Given the description of an element on the screen output the (x, y) to click on. 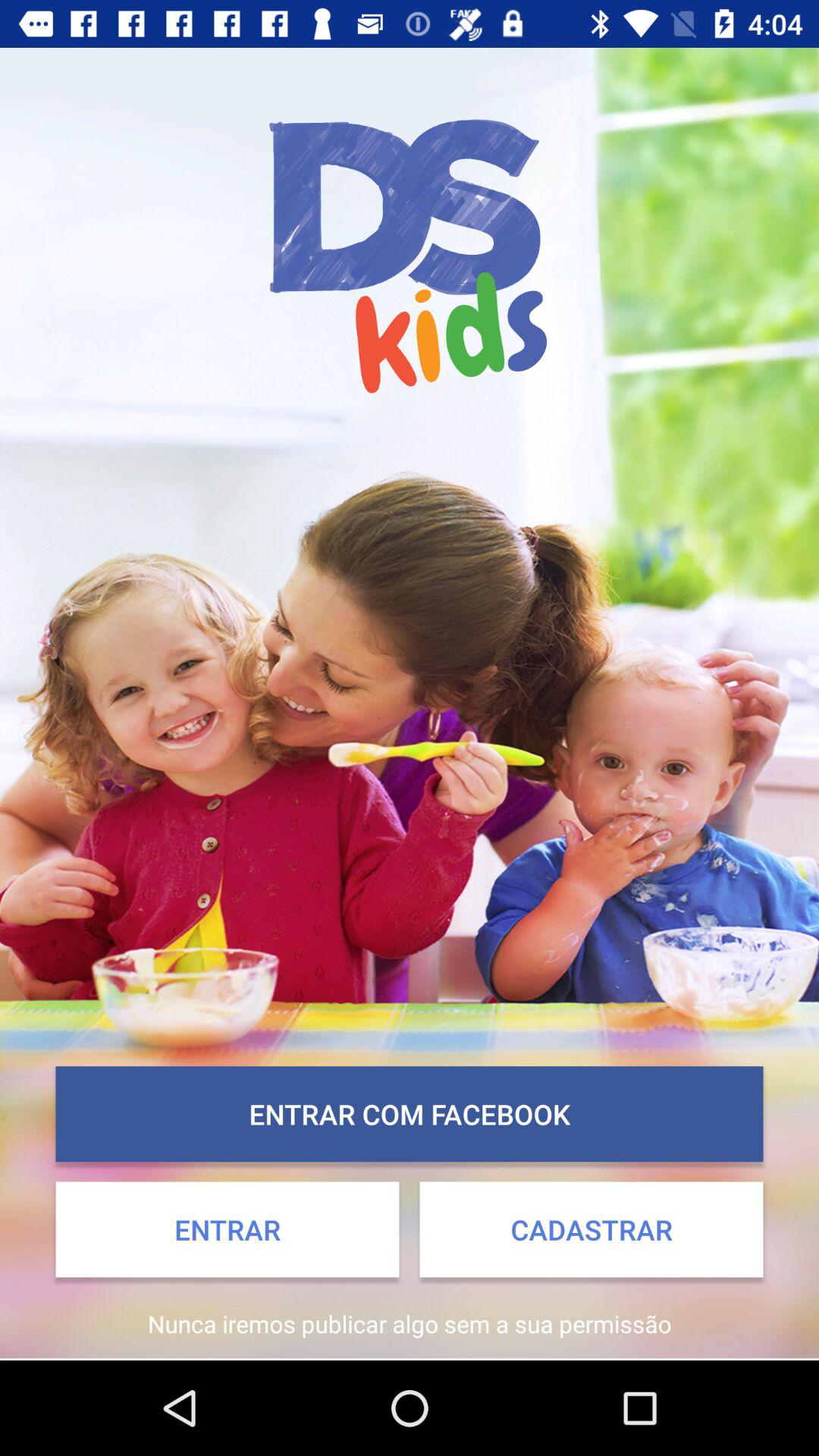
click icon above the entrar icon (409, 1113)
